Given the description of an element on the screen output the (x, y) to click on. 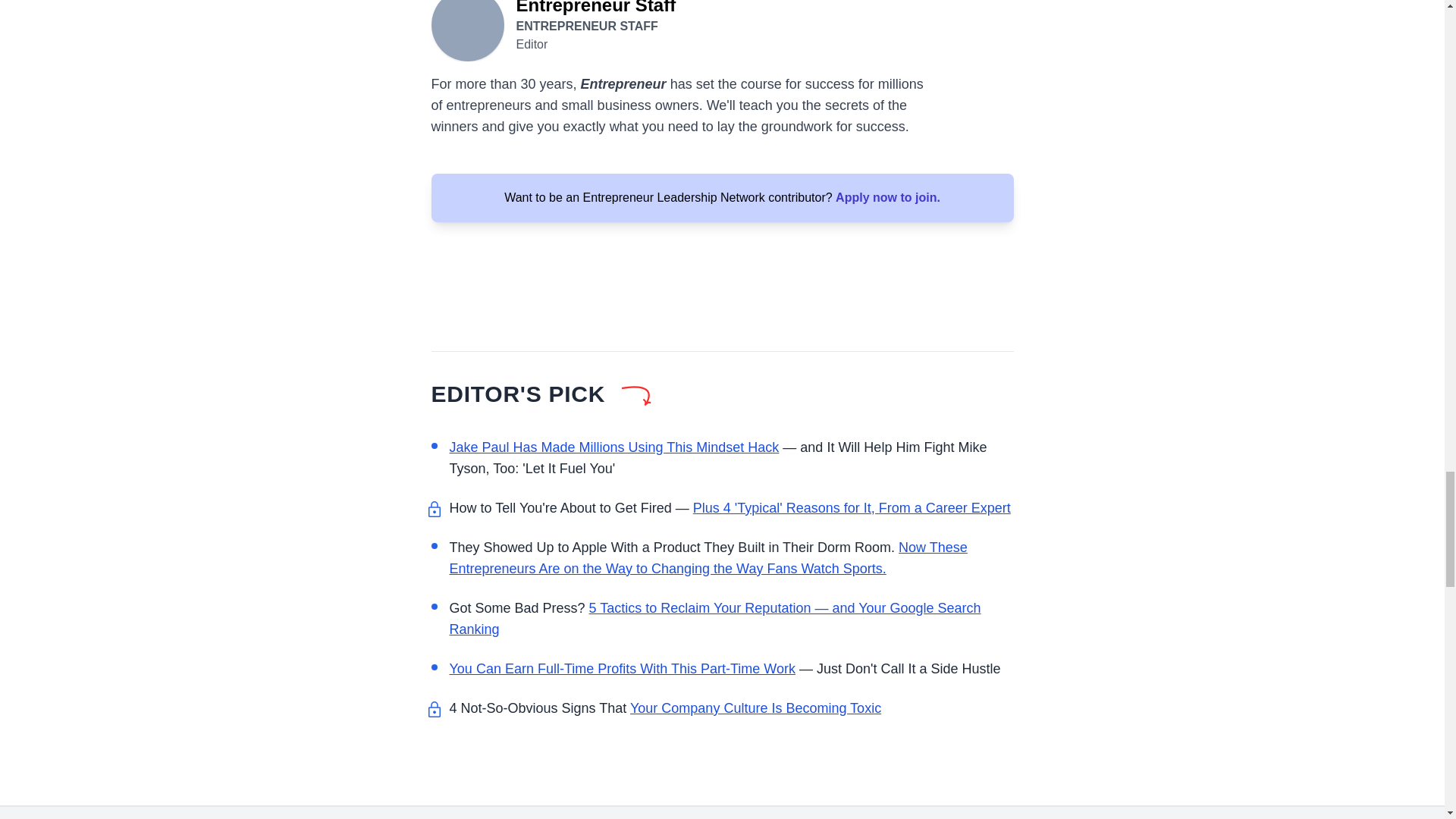
Entrepreneur Staff (466, 30)
